Given the description of an element on the screen output the (x, y) to click on. 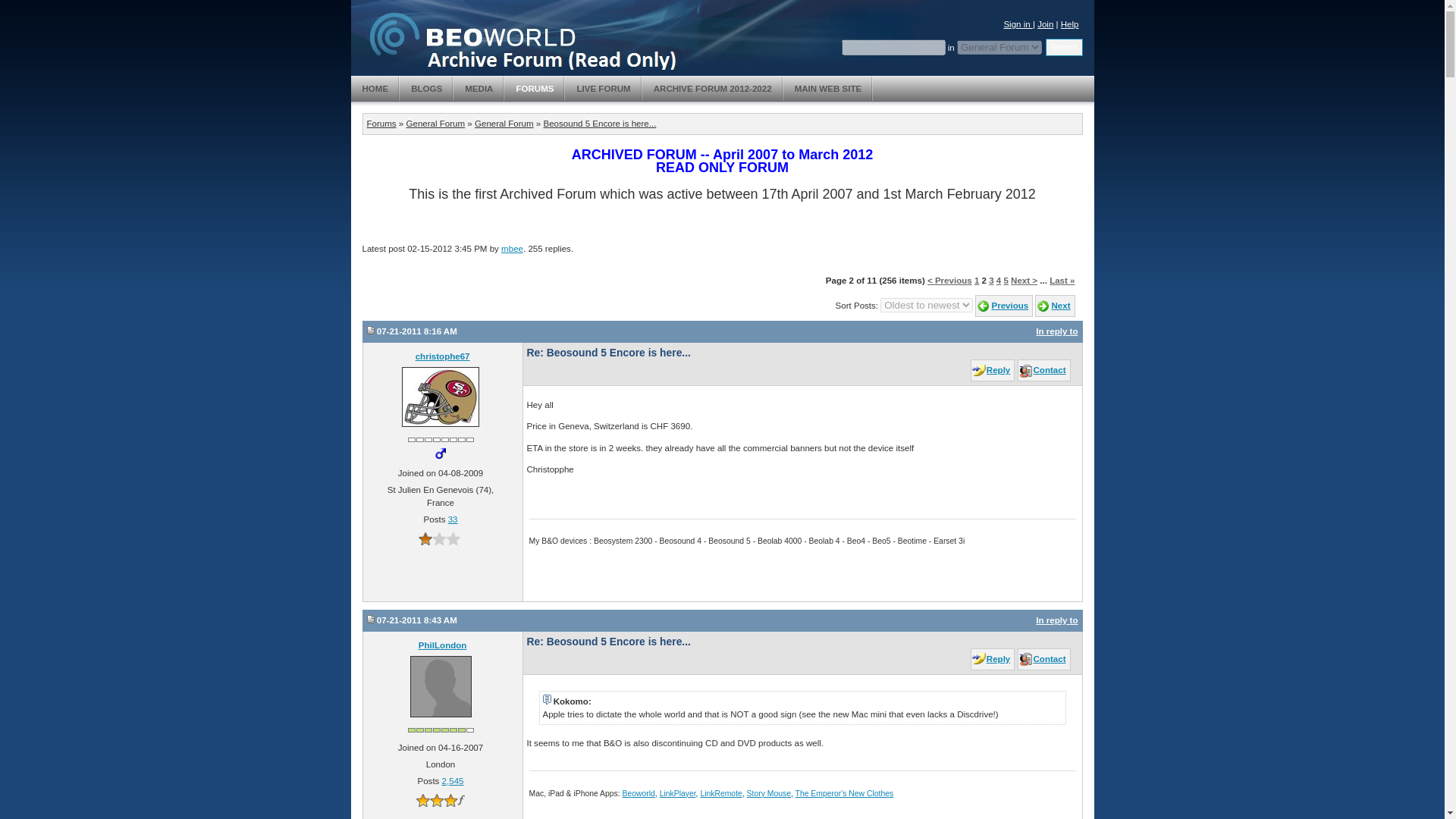
Previous (1003, 305)
MEDIA (477, 88)
HOME (374, 88)
General Forum (435, 122)
christophe67 (442, 356)
BLOGS (425, 88)
Search (1064, 47)
Top 25 Contributor (440, 729)
PhilLondon (443, 645)
Beosound 5 Encore is here... (599, 122)
Contact (1043, 370)
Help (1069, 23)
Forums (381, 122)
LIVE FORUM (603, 88)
3 (990, 280)
